Given the description of an element on the screen output the (x, y) to click on. 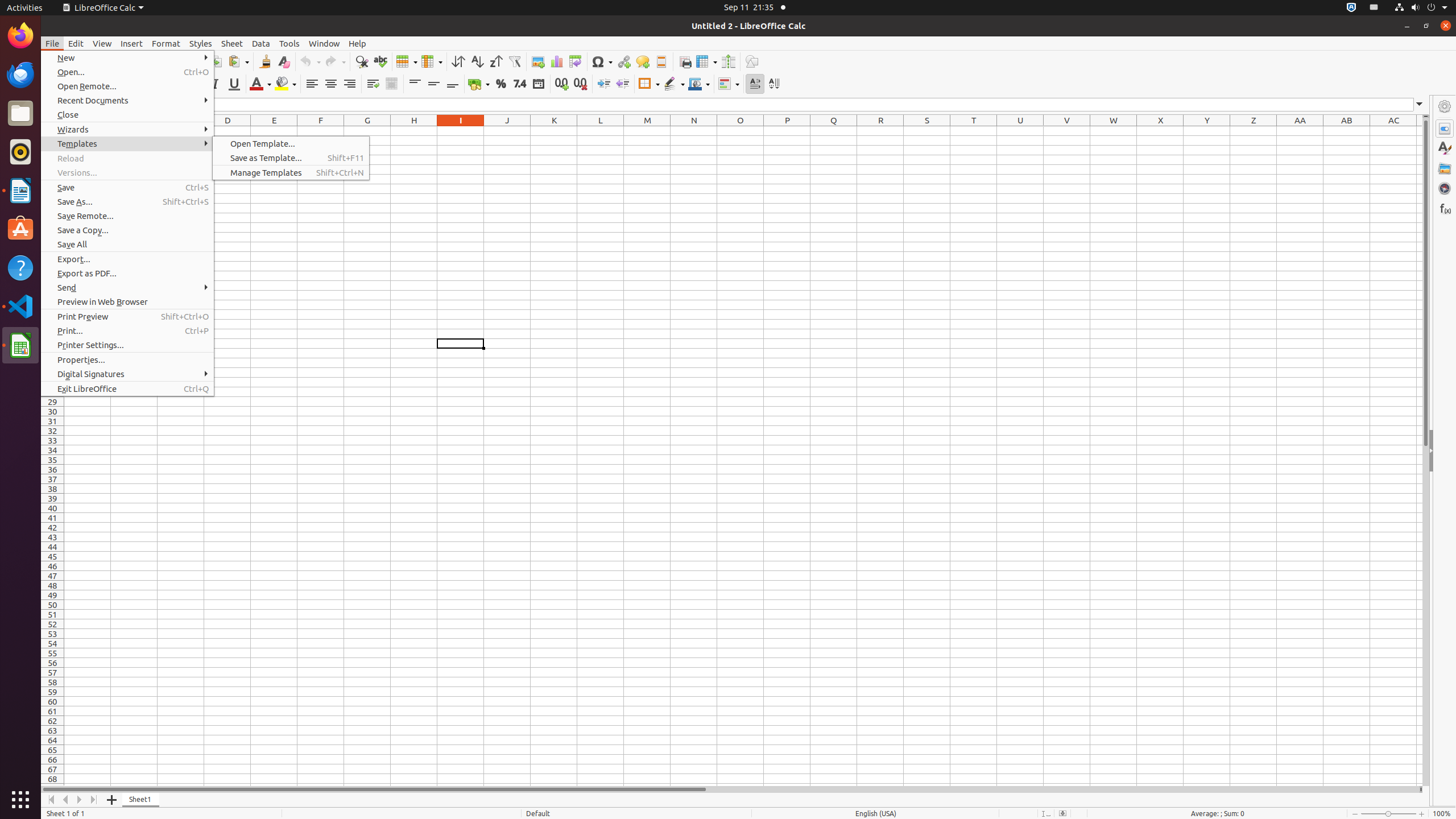
Export as PDF... Element type: menu-item (126, 273)
Underline Element type: push-button (233, 83)
Sort Element type: push-button (457, 61)
Column Element type: push-button (431, 61)
M1 Element type: table-cell (646, 130)
